Given the description of an element on the screen output the (x, y) to click on. 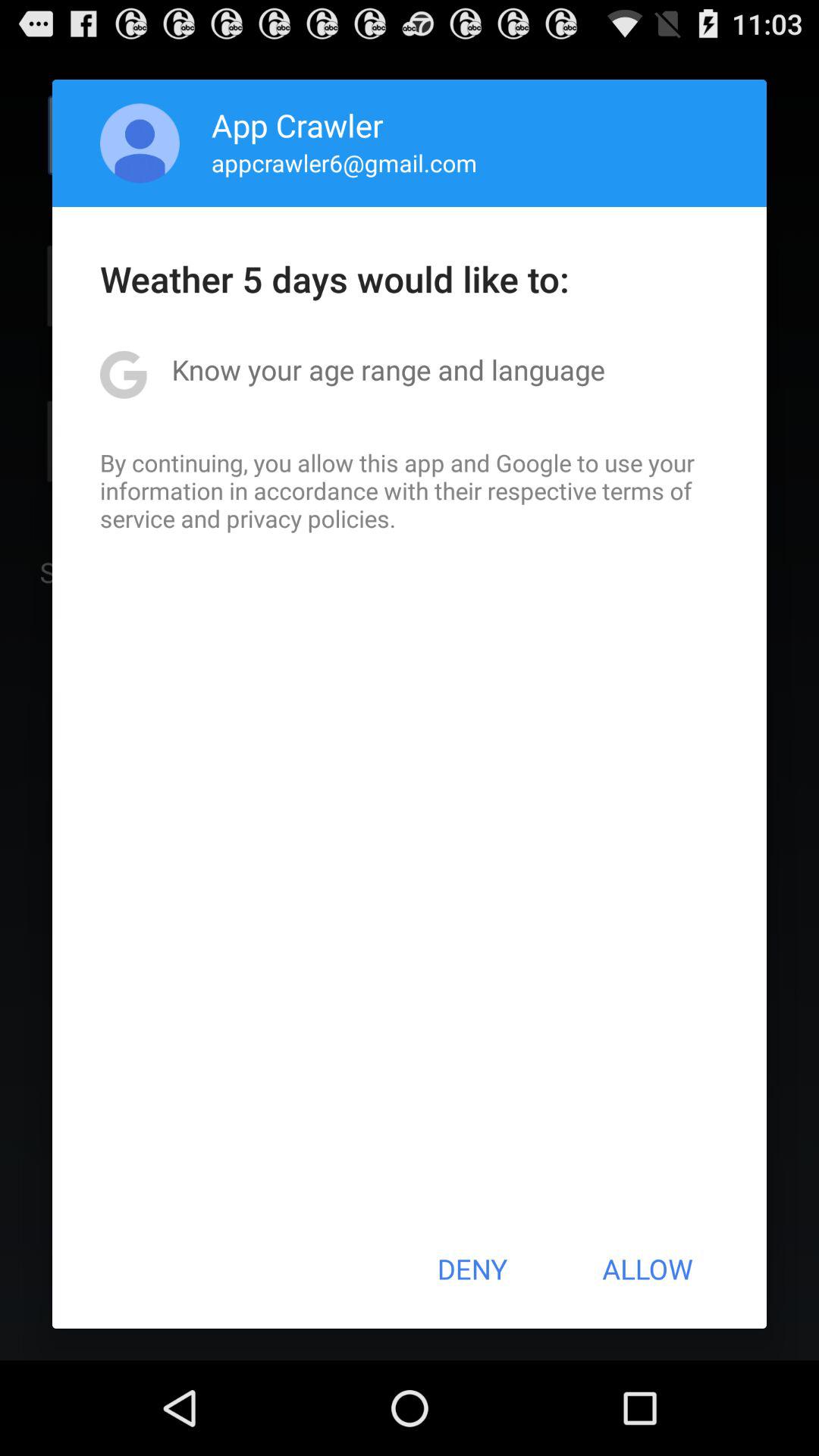
click the know your age item (388, 369)
